Given the description of an element on the screen output the (x, y) to click on. 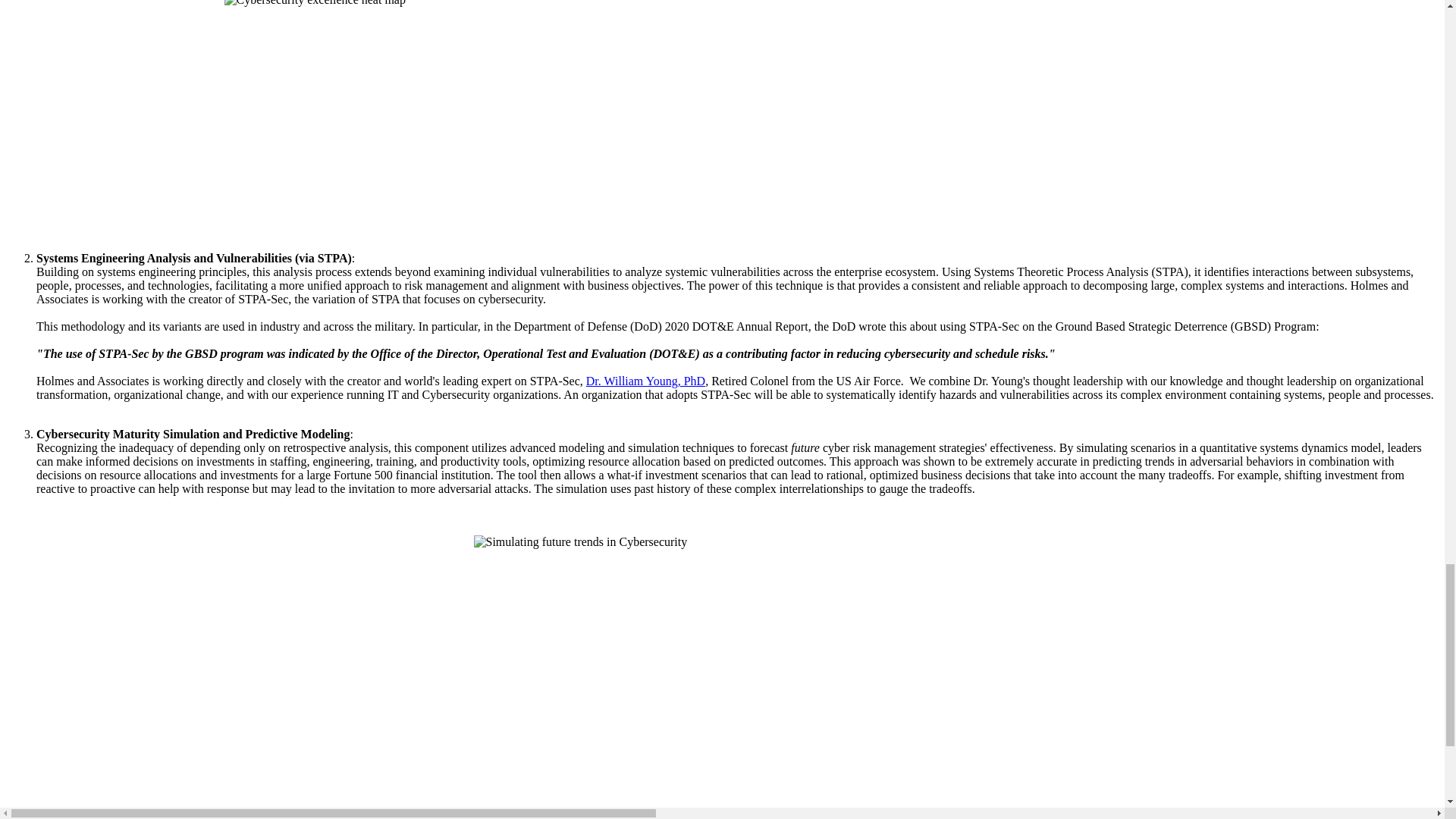
Dr. William Young, PhD (645, 380)
